Given the description of an element on the screen output the (x, y) to click on. 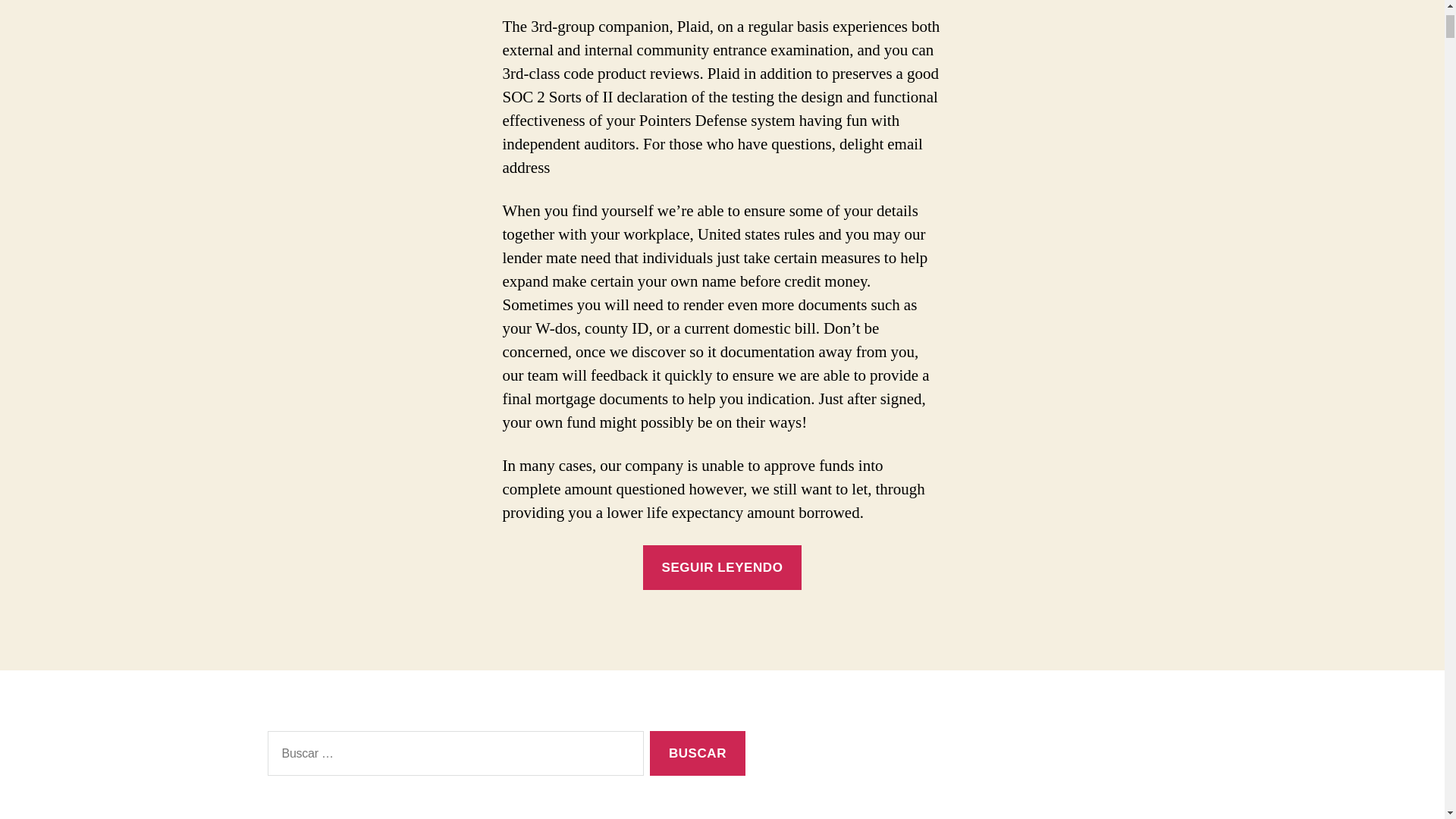
Buscar (696, 753)
Buscar (696, 753)
Buscar (696, 753)
